Given the description of an element on the screen output the (x, y) to click on. 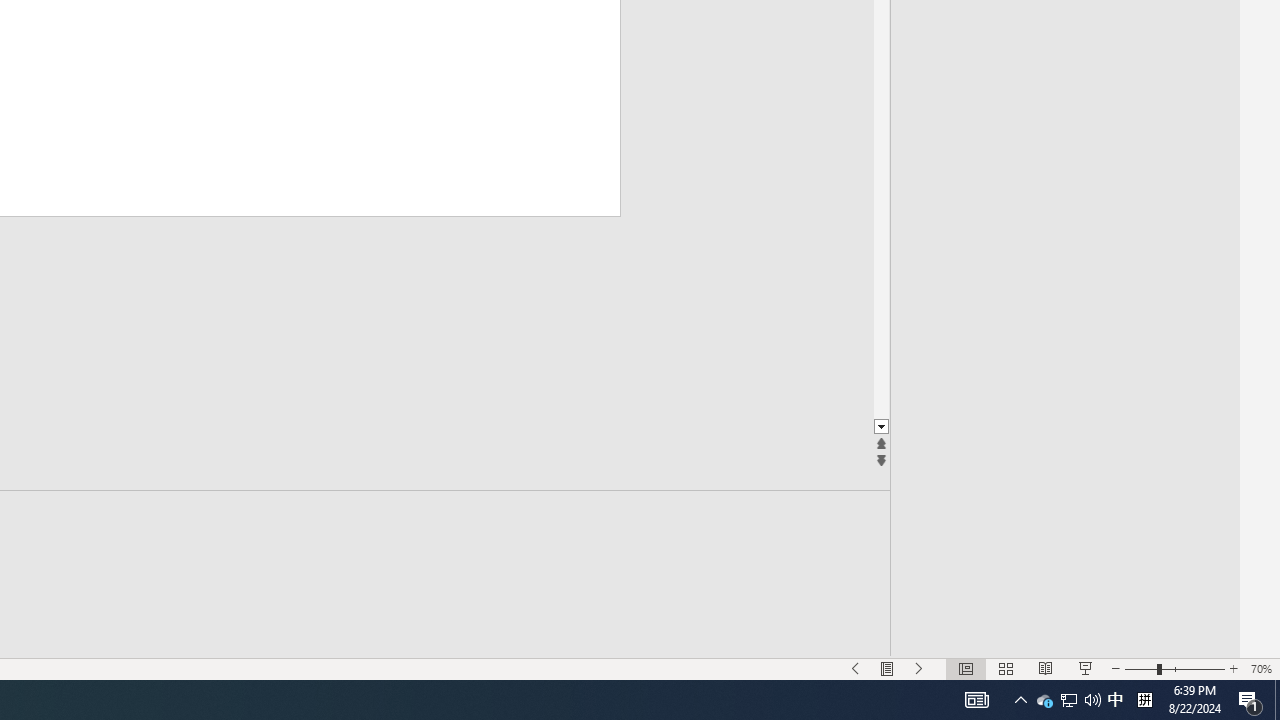
Normal (965, 668)
Menu On (887, 668)
Slide Show Next On (919, 668)
Slide Show (1085, 668)
Zoom Out (1141, 668)
Zoom (1174, 668)
Slide Show Previous On (855, 668)
Zoom In (1233, 668)
Zoom 70% (1261, 668)
Reading View (1046, 668)
Slide Sorter (1005, 668)
